Given the description of an element on the screen output the (x, y) to click on. 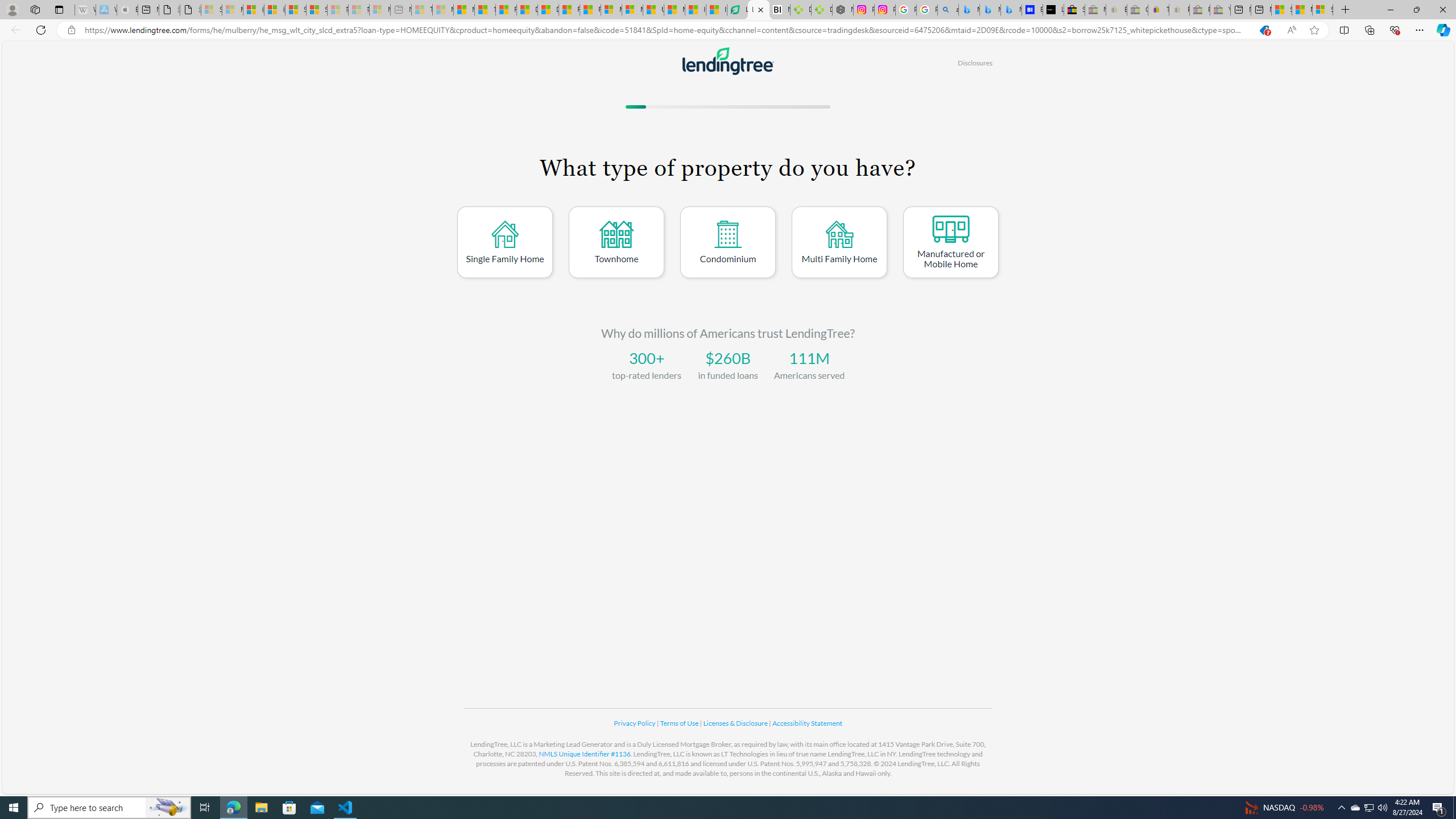
Microsoft account | Account Checkup - Sleeping (379, 9)
Accessibility Statement (807, 723)
